Given the description of an element on the screen output the (x, y) to click on. 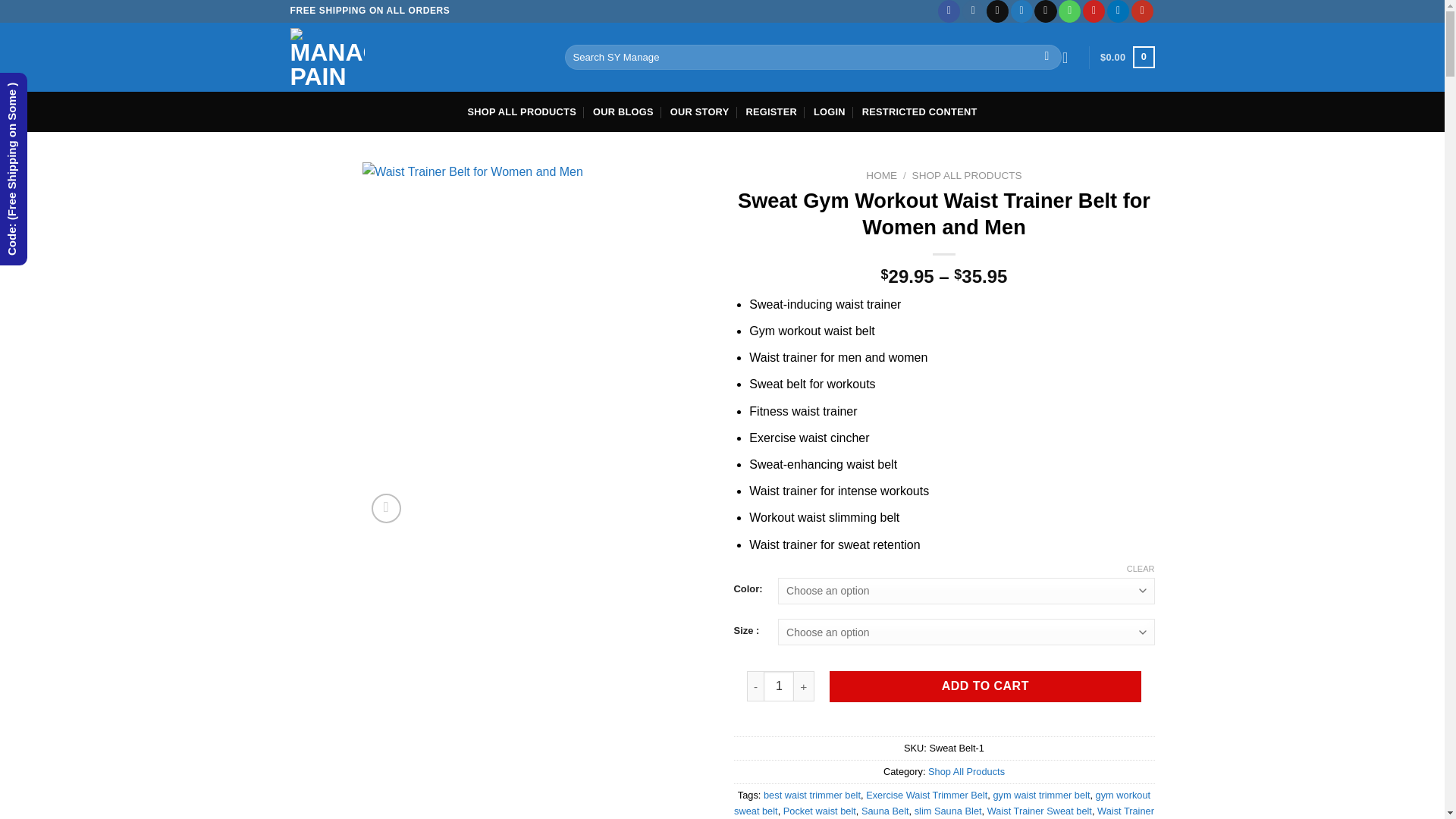
OUR STORY (699, 111)
Follow on LinkedIn (1117, 11)
SHOP ALL PRODUCTS (521, 111)
Follow on Facebook (948, 11)
Follow on Twitter (1021, 11)
Follow on Pinterest (1094, 11)
Search (1046, 57)
Follow on Instagram (973, 11)
Follow on YouTube (1142, 11)
OUR BLOGS (622, 111)
